Given the description of an element on the screen output the (x, y) to click on. 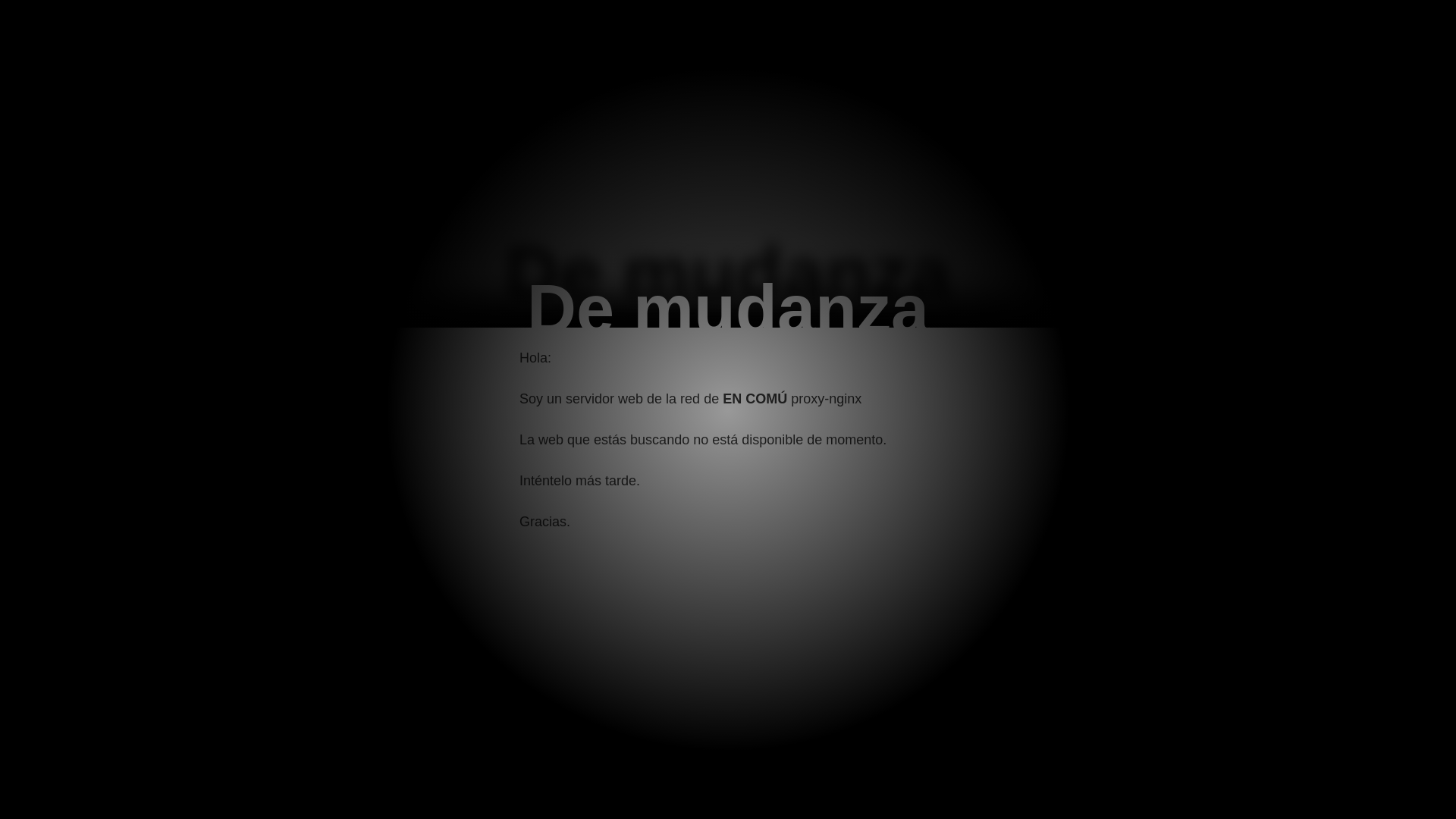
De mudanza Element type: text (727, 309)
